Given the description of an element on the screen output the (x, y) to click on. 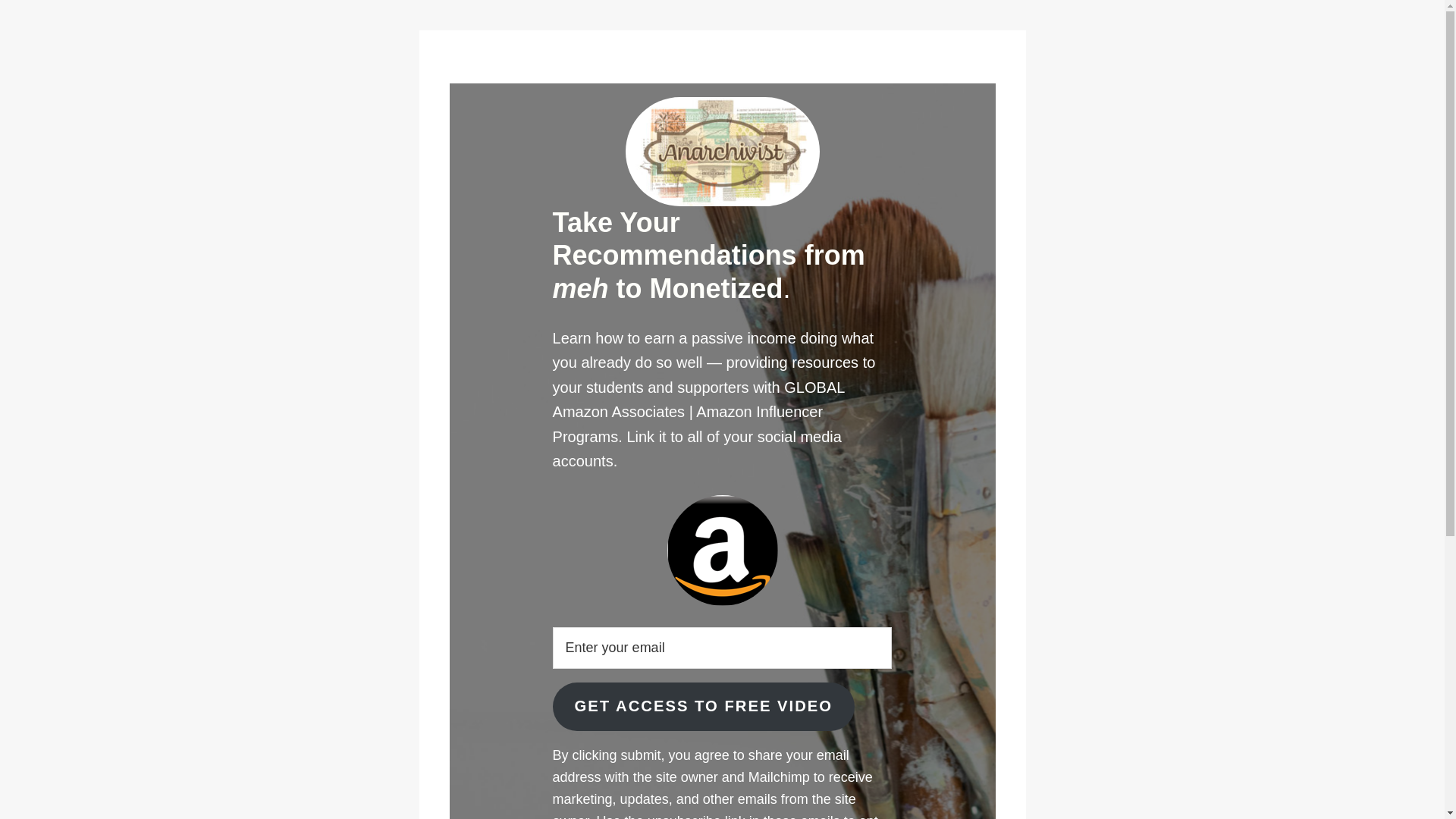
Enter your email (722, 648)
GET ACCESS TO FREE VIDEO (704, 706)
